Given the description of an element on the screen output the (x, y) to click on. 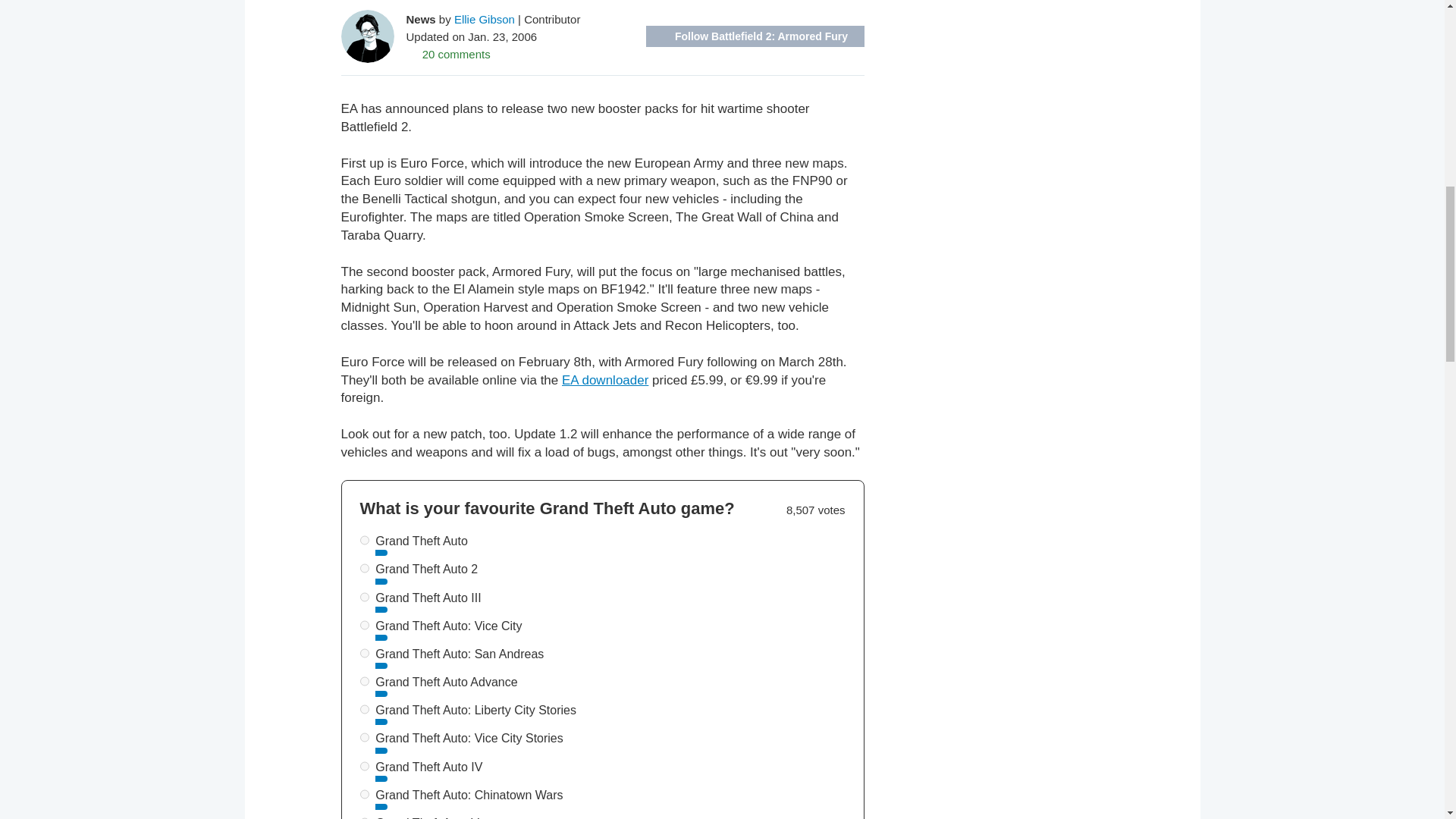
on (364, 709)
on (364, 624)
on (364, 596)
20 comments (448, 52)
Ellie Gibson (484, 18)
on (364, 681)
Follow Battlefield 2: Armored Fury (755, 35)
on (364, 766)
on (364, 737)
on (364, 794)
